Given the description of an element on the screen output the (x, y) to click on. 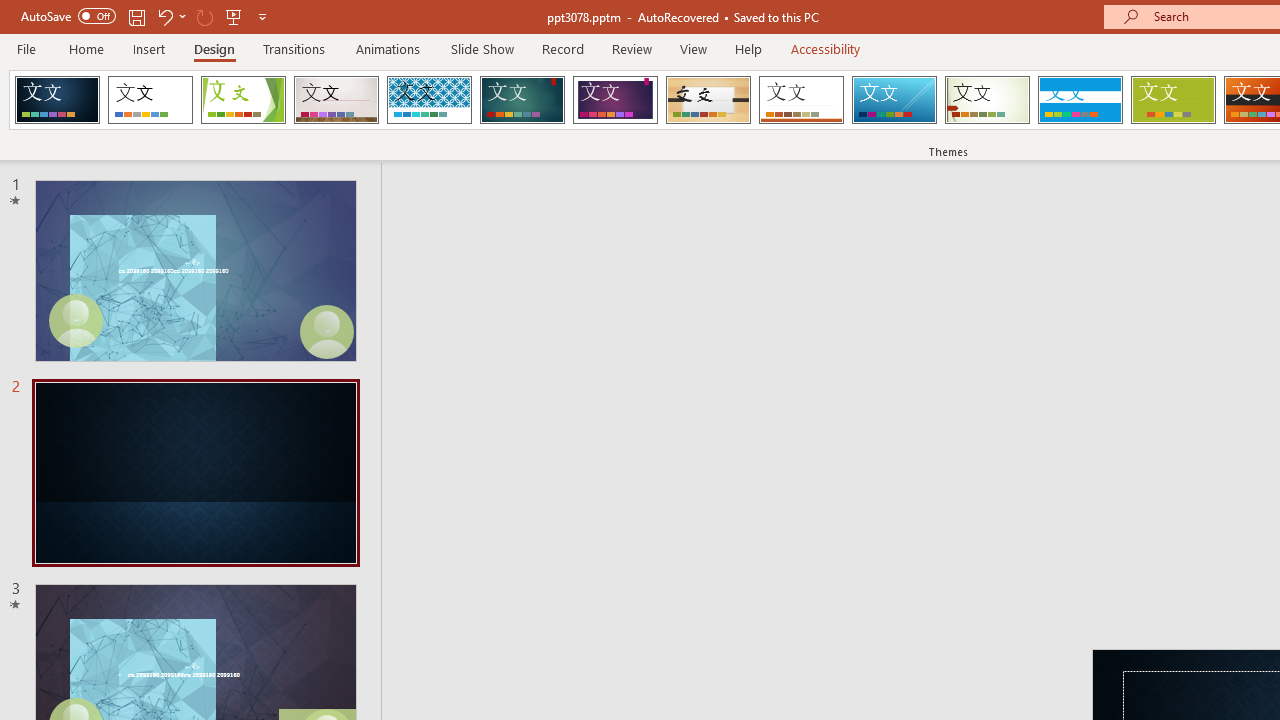
Retrospect (801, 100)
Organic (708, 100)
Integral (429, 100)
Facet (243, 100)
